Given the description of an element on the screen output the (x, y) to click on. 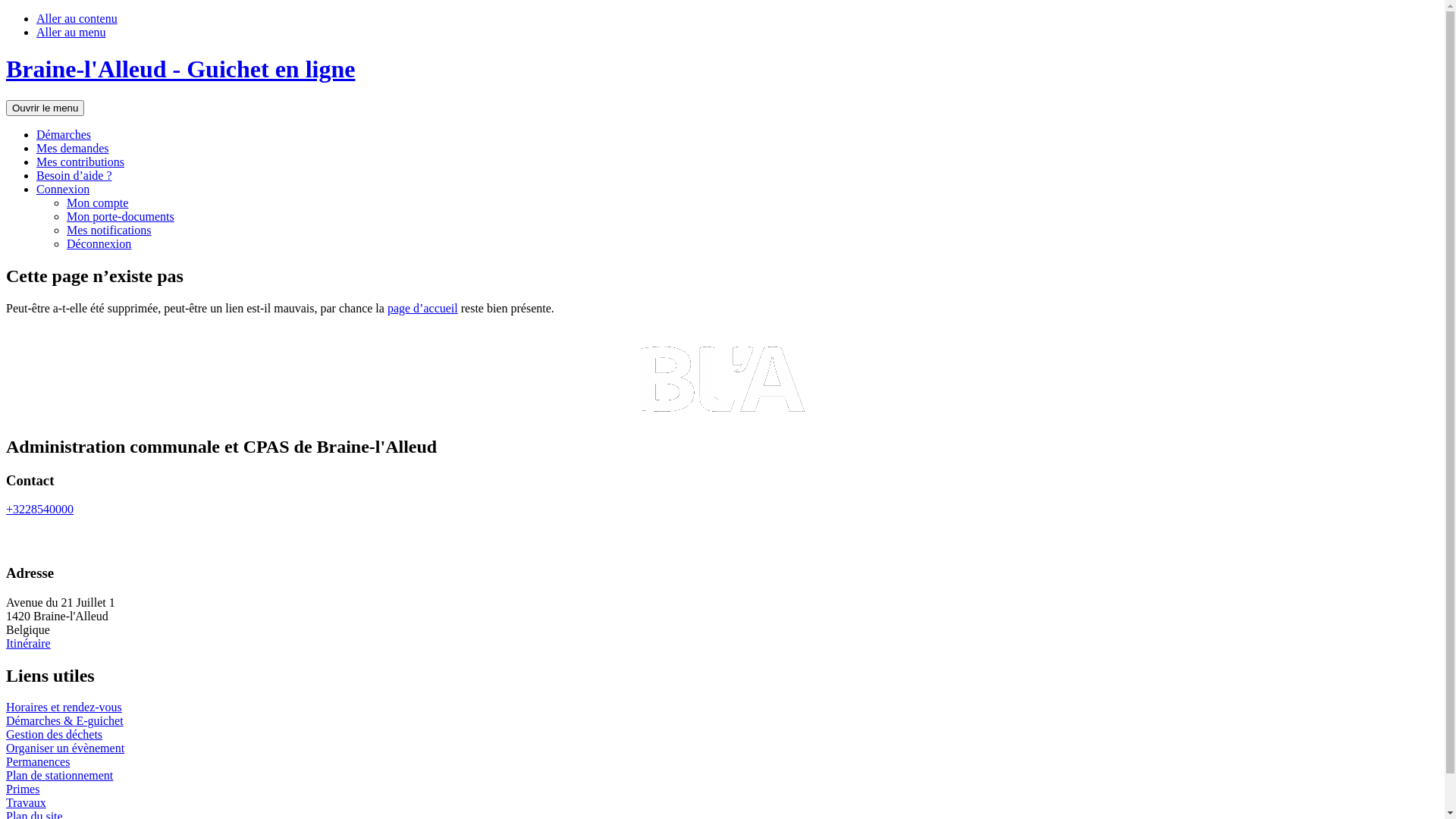
Connexion Element type: text (62, 188)
Horaires et rendez-vous Element type: text (64, 706)
Aller au contenu Element type: text (76, 18)
Travaux Element type: text (26, 802)
Permanences Element type: text (37, 761)
Ouvrir le menu Element type: text (45, 108)
Mon porte-documents Element type: text (120, 216)
twitter Element type: text (50, 539)
Aller au menu Element type: text (71, 31)
Mes notifications Element type: text (108, 229)
Plan de stationnement Element type: text (59, 774)
facebook Element type: text (17, 539)
+3228540000 Element type: text (39, 508)
Braine-l'Alleud - Guichet en ligne Element type: text (180, 68)
Mes contributions Element type: text (80, 161)
Mon compte Element type: text (97, 202)
Primes Element type: text (22, 788)
Mes demandes Element type: text (72, 147)
